Given the description of an element on the screen output the (x, y) to click on. 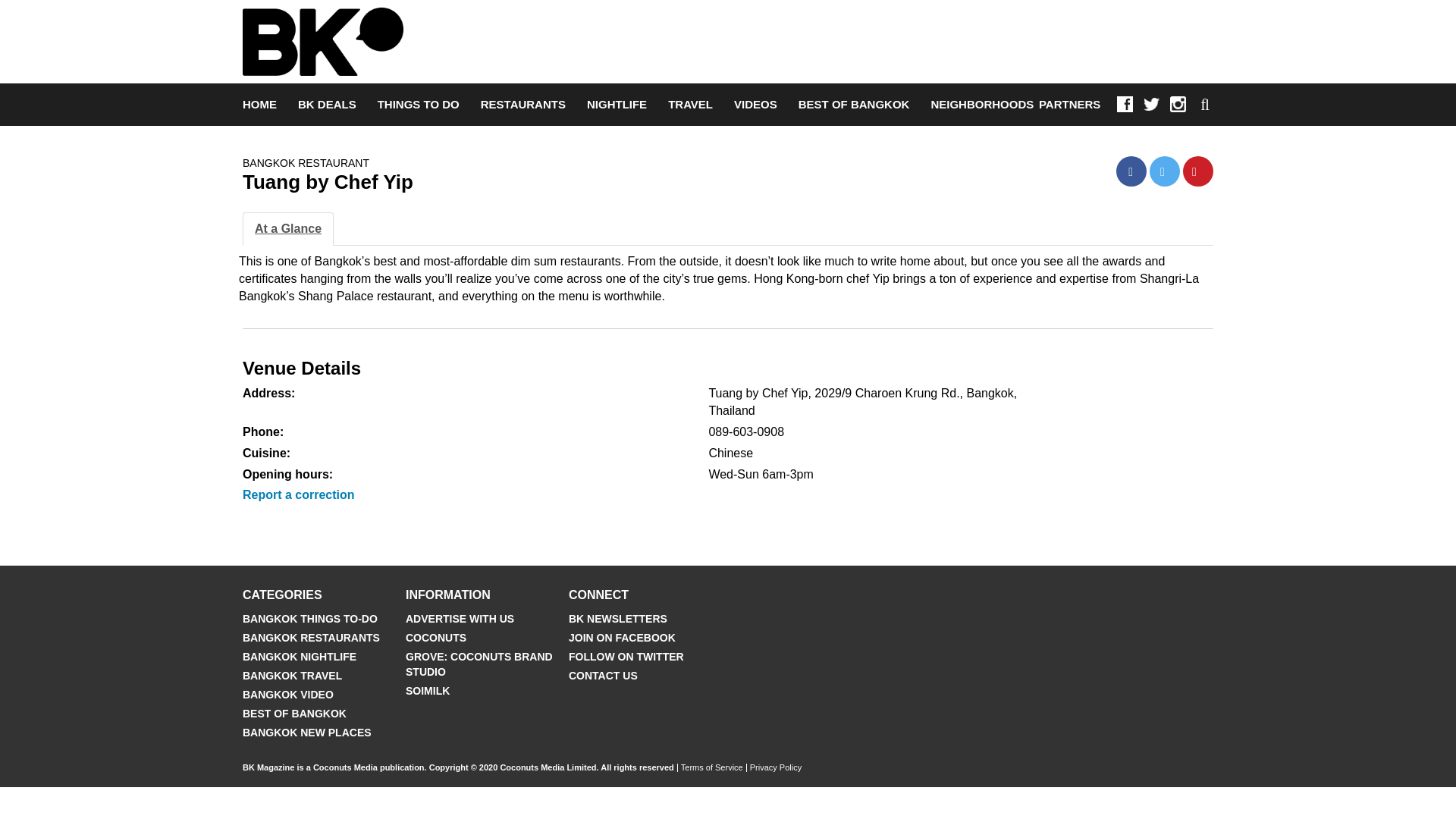
THINGS TO DO (418, 104)
BK DEALS (327, 104)
BEST OF BANGKOK (853, 104)
NIGHTLIFE (616, 104)
NEIGHBORHOODS (981, 104)
VIDEOS (755, 104)
PARTNERS (1069, 104)
TRAVEL (690, 104)
RESTAURANTS (523, 104)
